Given the description of an element on the screen output the (x, y) to click on. 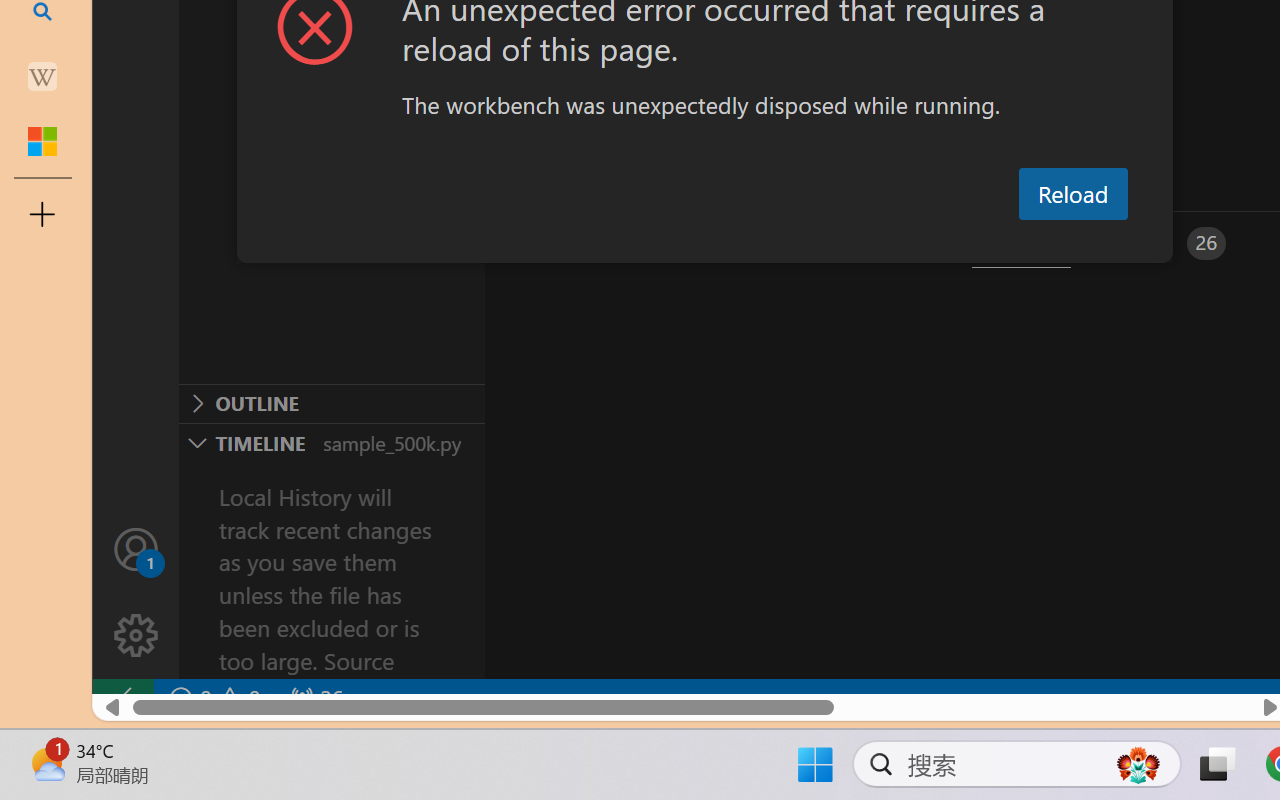
remote (122, 698)
Outline Section (331, 403)
